Given the description of an element on the screen output the (x, y) to click on. 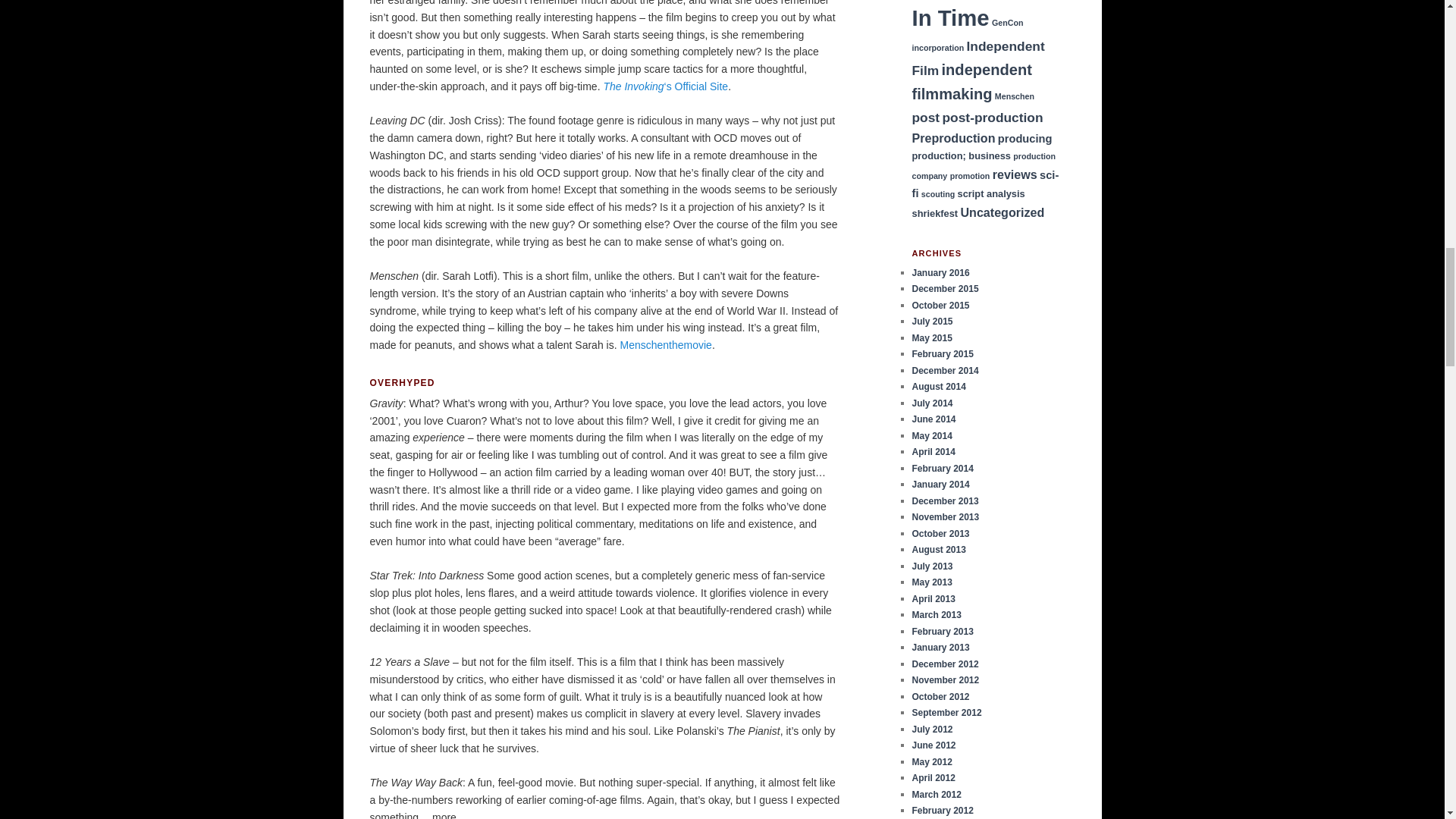
Menschenthemovie (665, 345)
